Given the description of an element on the screen output the (x, y) to click on. 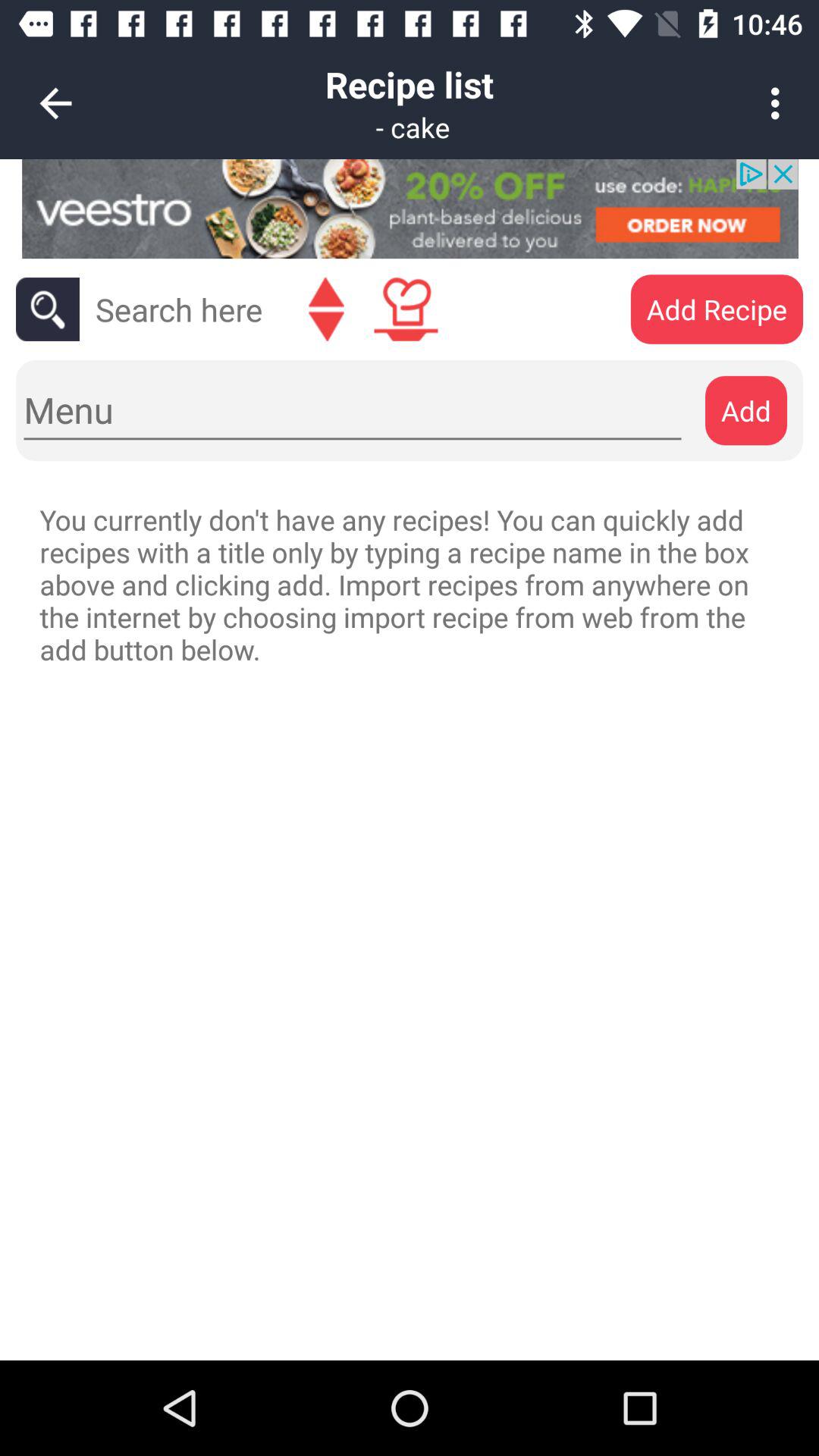
search the recipe (178, 309)
